Given the description of an element on the screen output the (x, y) to click on. 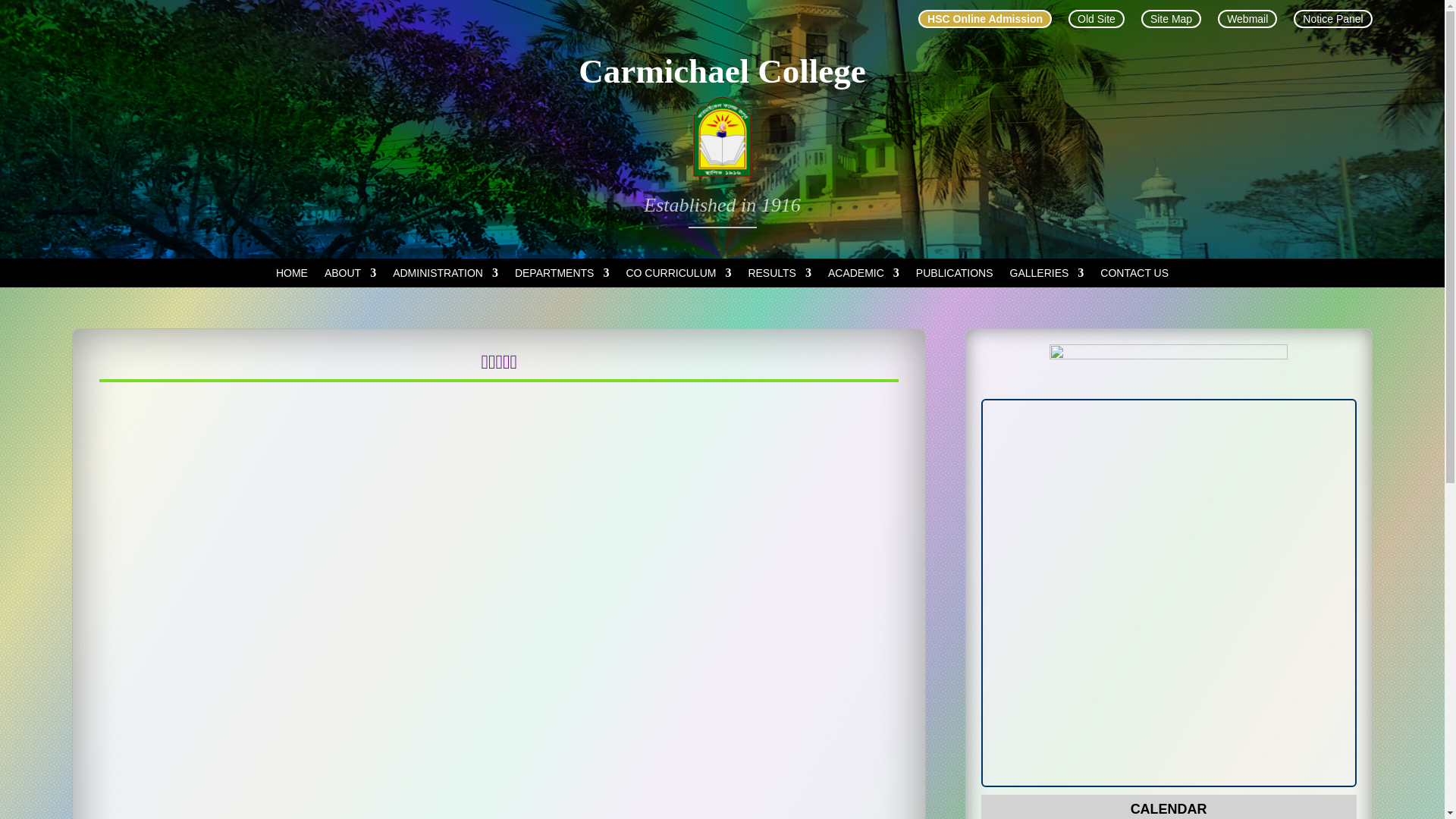
ABOUT Element type: text (350, 275)
ADMINISTRATION Element type: text (445, 275)
Old Site Element type: text (1096, 18)
RESULTS Element type: text (779, 275)
CONTACT US Element type: text (1134, 275)
HSC Online Admission Element type: text (984, 18)
ccricon Element type: hover (721, 136)
Logo_Web_Version Element type: hover (1168, 369)
Site Map Element type: text (1171, 18)
GALLERIES Element type: text (1047, 275)
DEPARTMENTS Element type: text (561, 275)
PUBLICATIONS Element type: text (954, 275)
ACADEMIC Element type: text (863, 275)
CO CURRICULUM Element type: text (678, 275)
Notice Panel Element type: text (1332, 18)
HOME Element type: text (291, 275)
Webmail Element type: text (1247, 18)
